Given the description of an element on the screen output the (x, y) to click on. 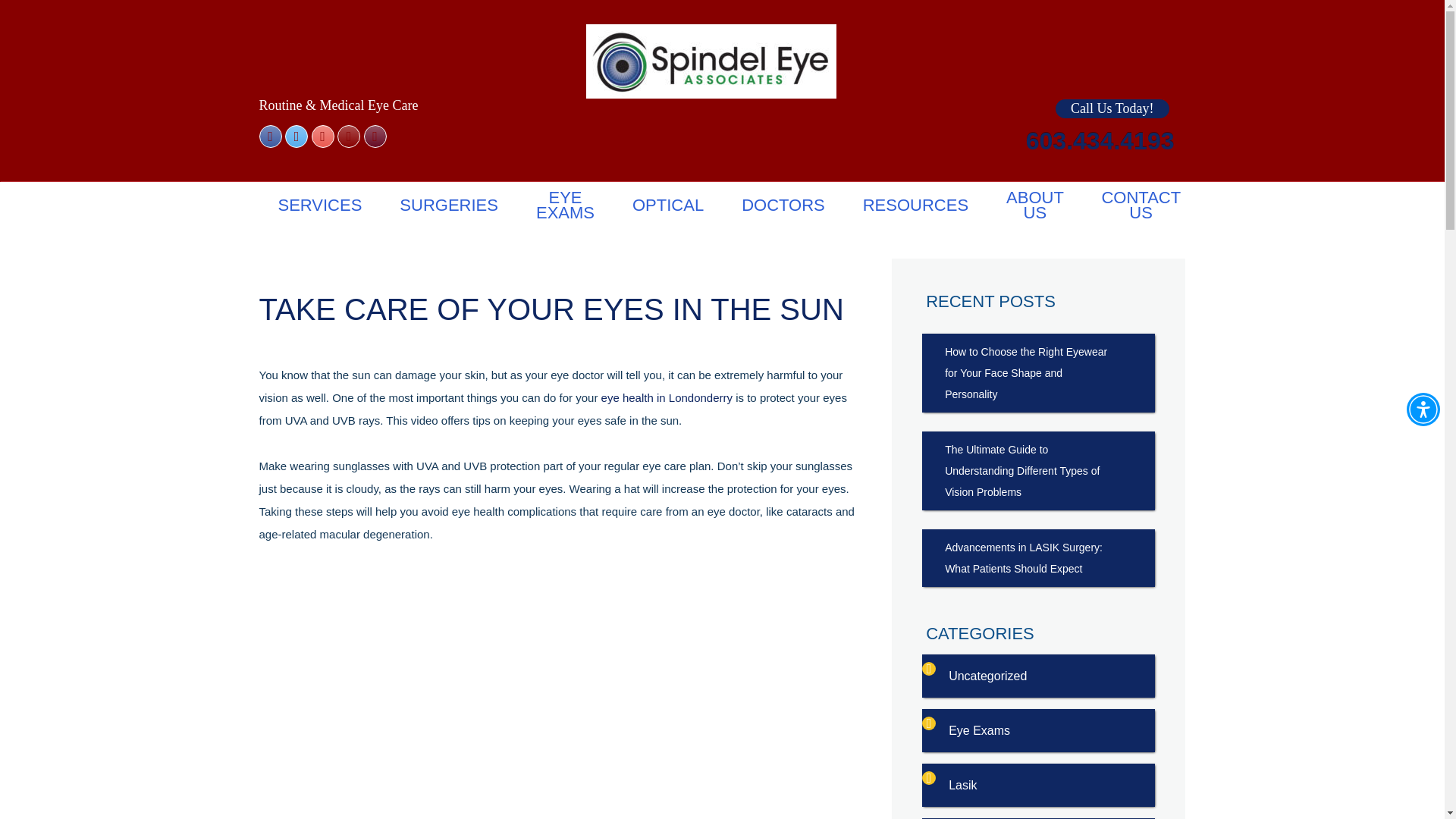
SERVICES (320, 205)
Accessibility Menu (1422, 409)
SURGERIES (448, 205)
603.434.4193 (1100, 143)
